Given the description of an element on the screen output the (x, y) to click on. 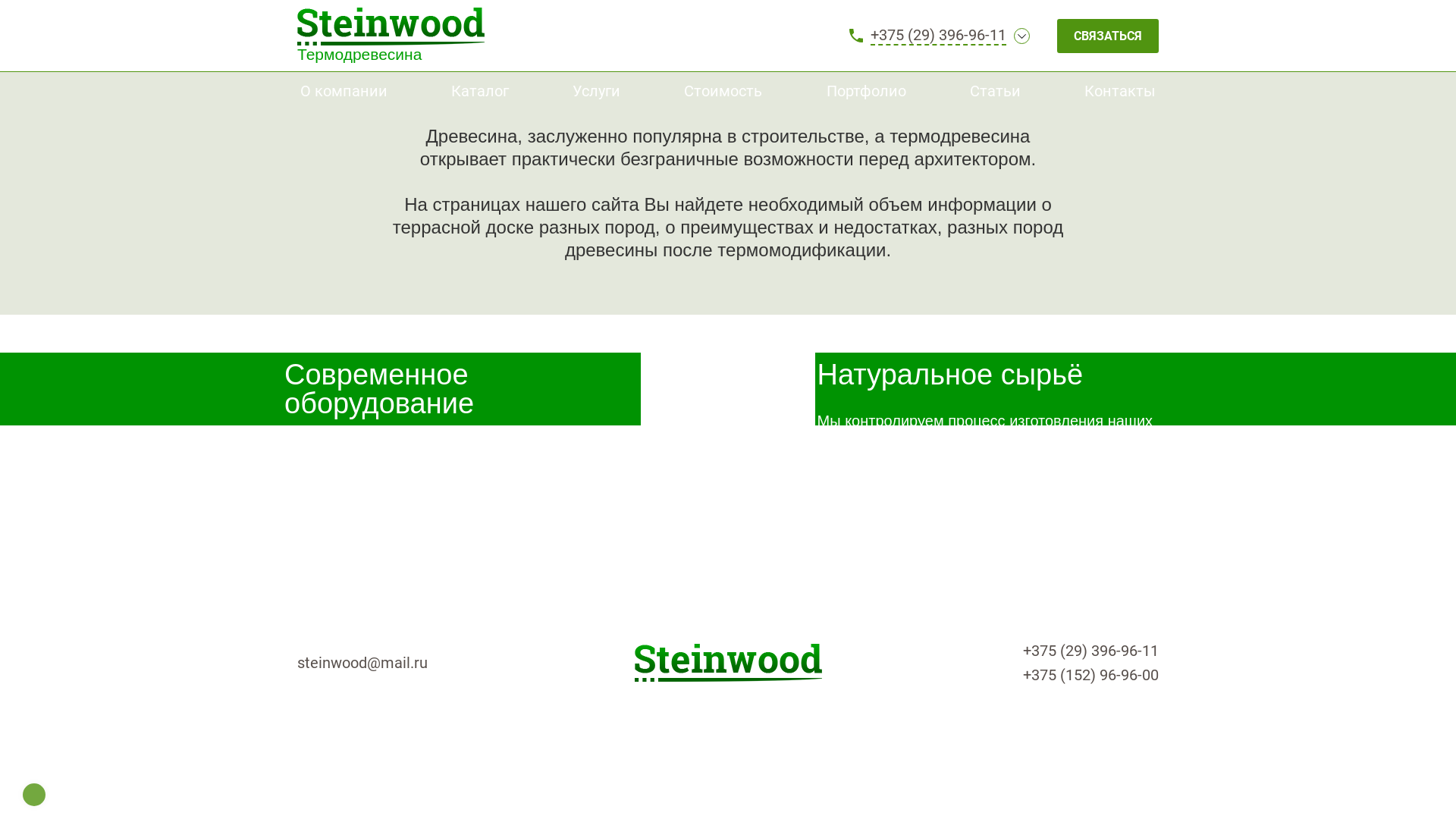
+375 (29) 396-96-11 Element type: text (938, 35)
+375 (29) 396-96-11 Element type: text (1014, 650)
steinwood@mail.ru Element type: text (362, 662)
+375 (152) 96-96-00 Element type: text (1014, 674)
Top Element type: text (33, 794)
